Given the description of an element on the screen output the (x, y) to click on. 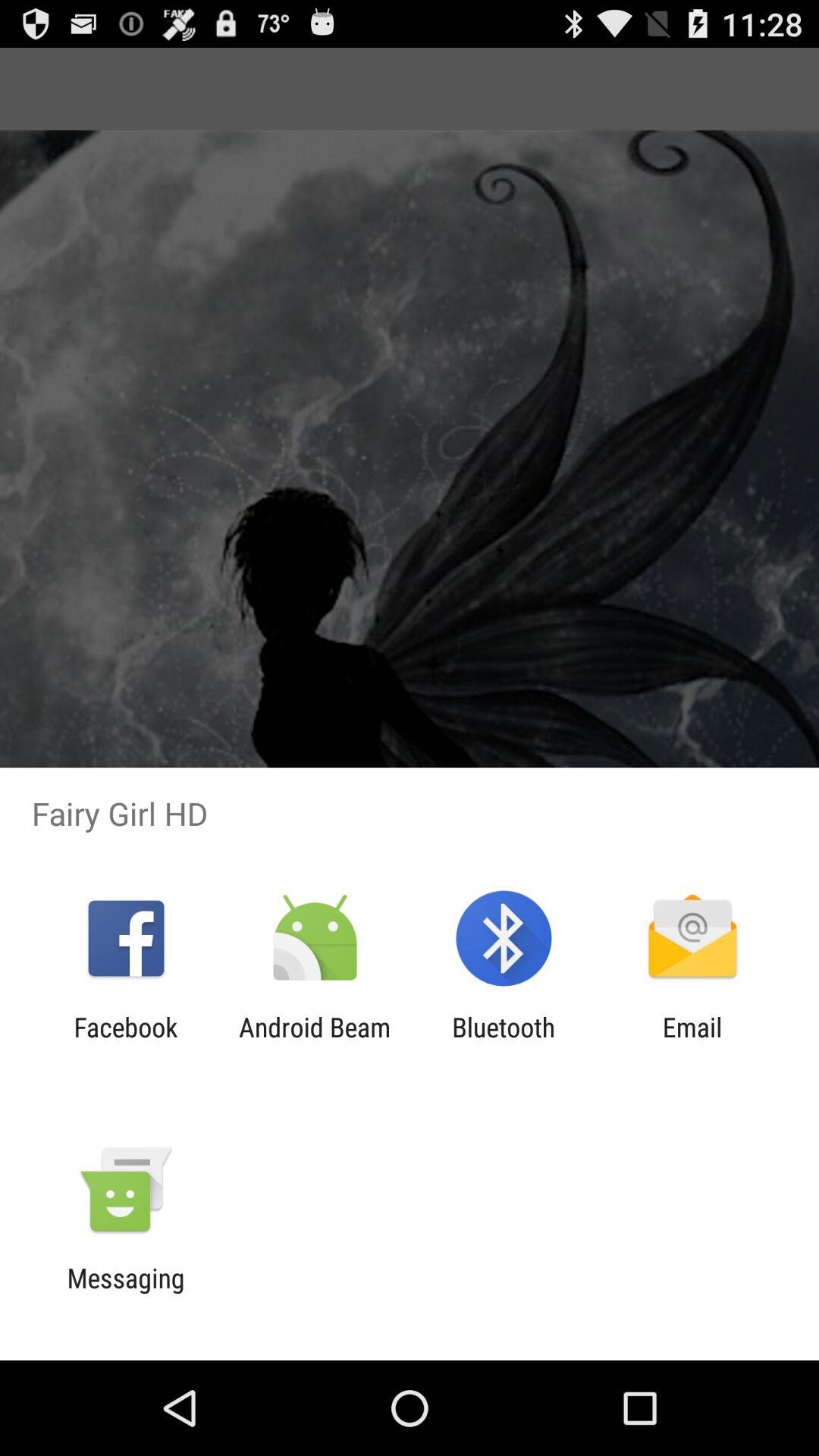
turn on app to the right of the facebook app (314, 1042)
